Given the description of an element on the screen output the (x, y) to click on. 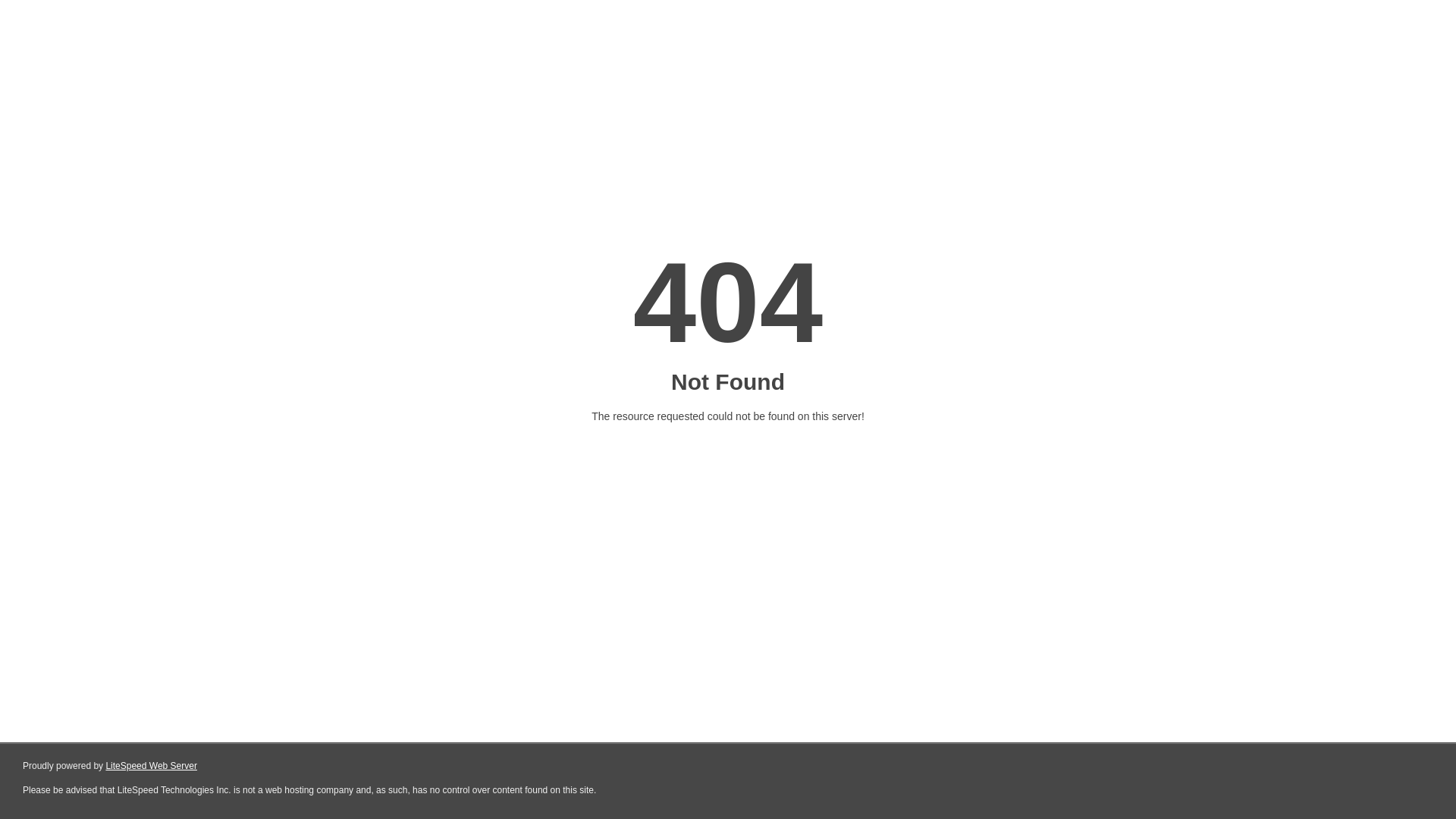
LiteSpeed Web Server Element type: text (151, 765)
